Given the description of an element on the screen output the (x, y) to click on. 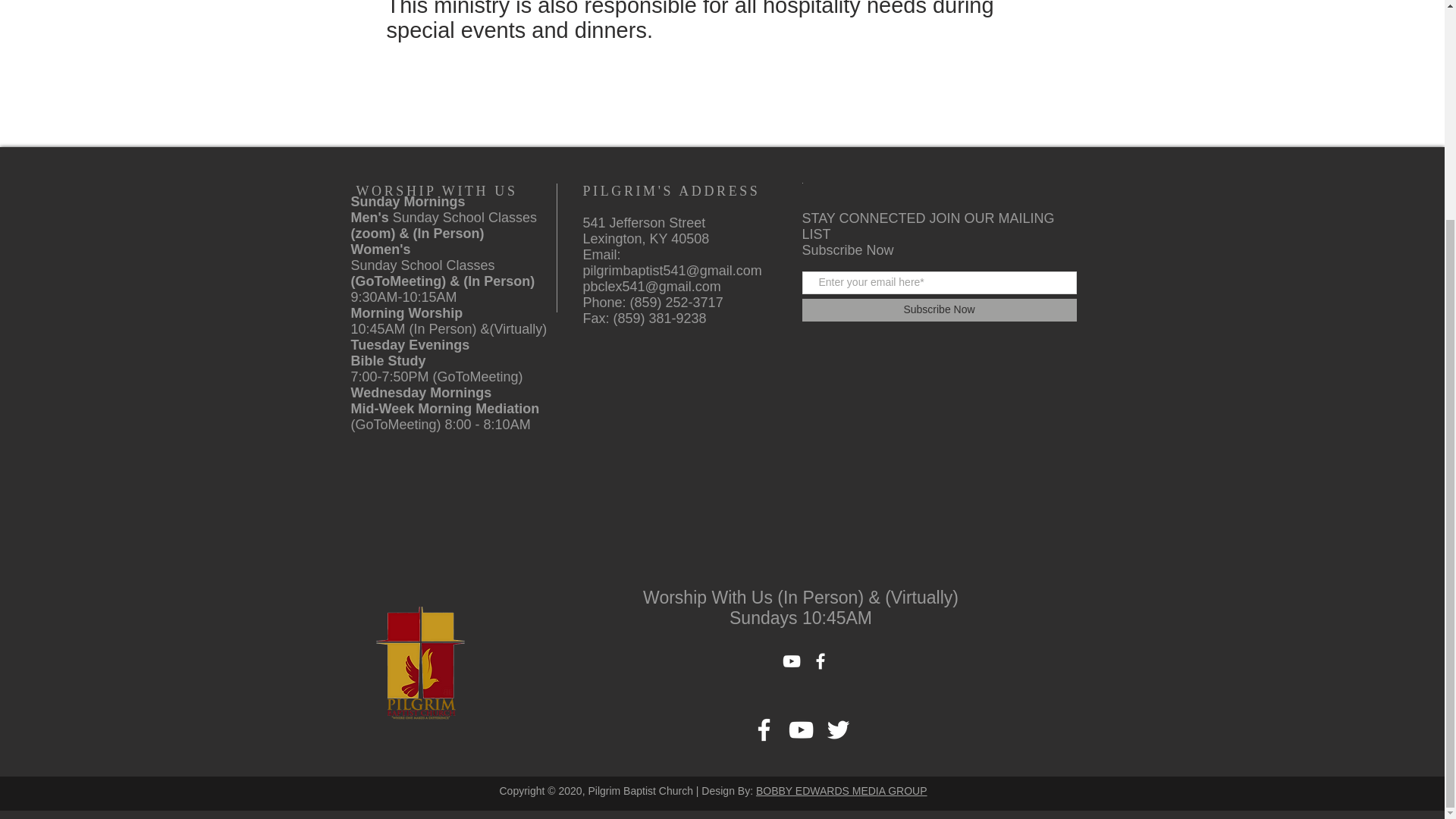
BOBBY EDWARDS MEDIA GROUP (841, 790)
Subscribe Now (939, 309)
